Given the description of an element on the screen output the (x, y) to click on. 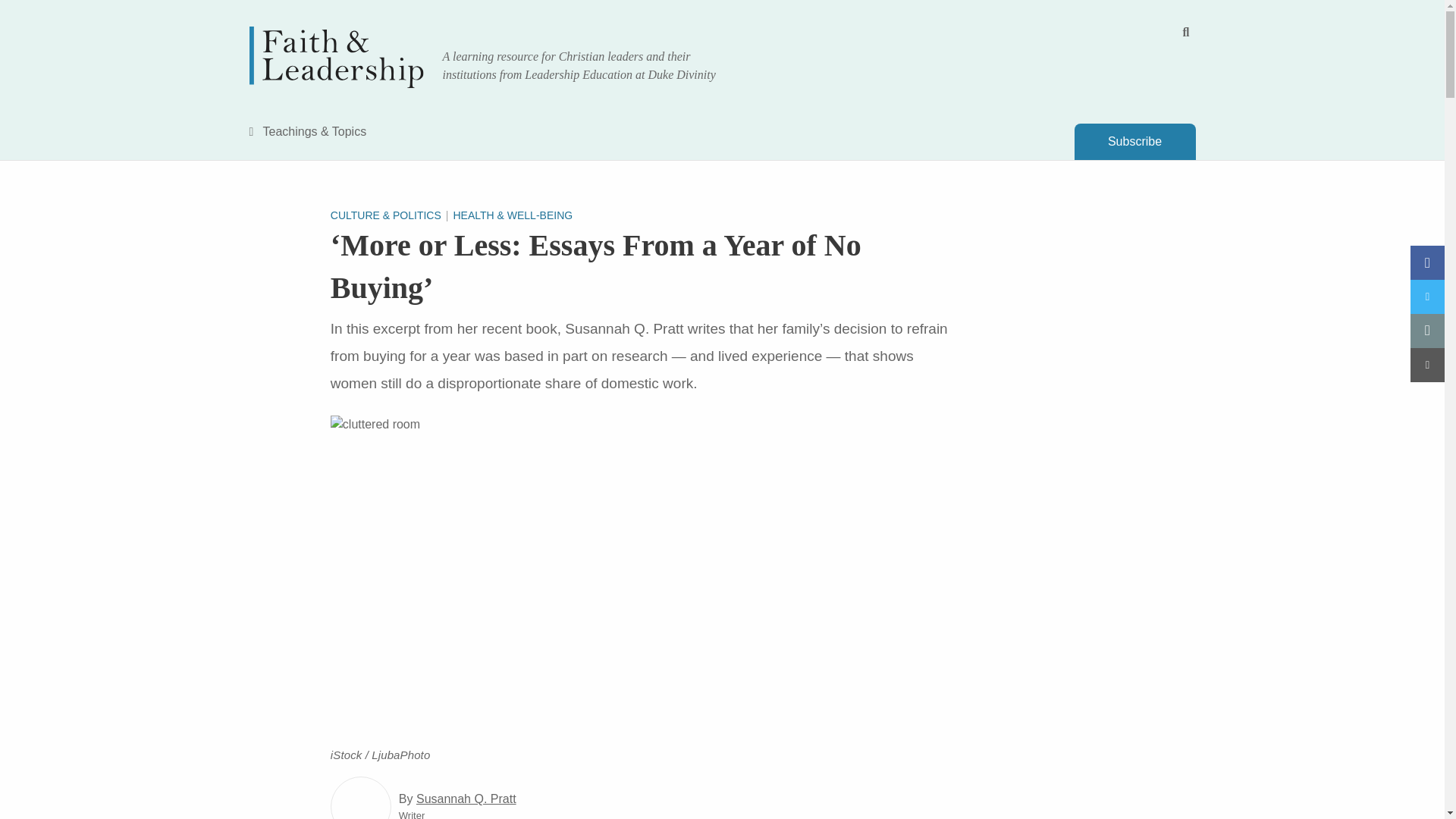
Toggle Search (1185, 32)
Subscribe (1134, 141)
Susannah Q. Pratt (466, 798)
Link to author Susannah Q. Pratt (360, 797)
